Given the description of an element on the screen output the (x, y) to click on. 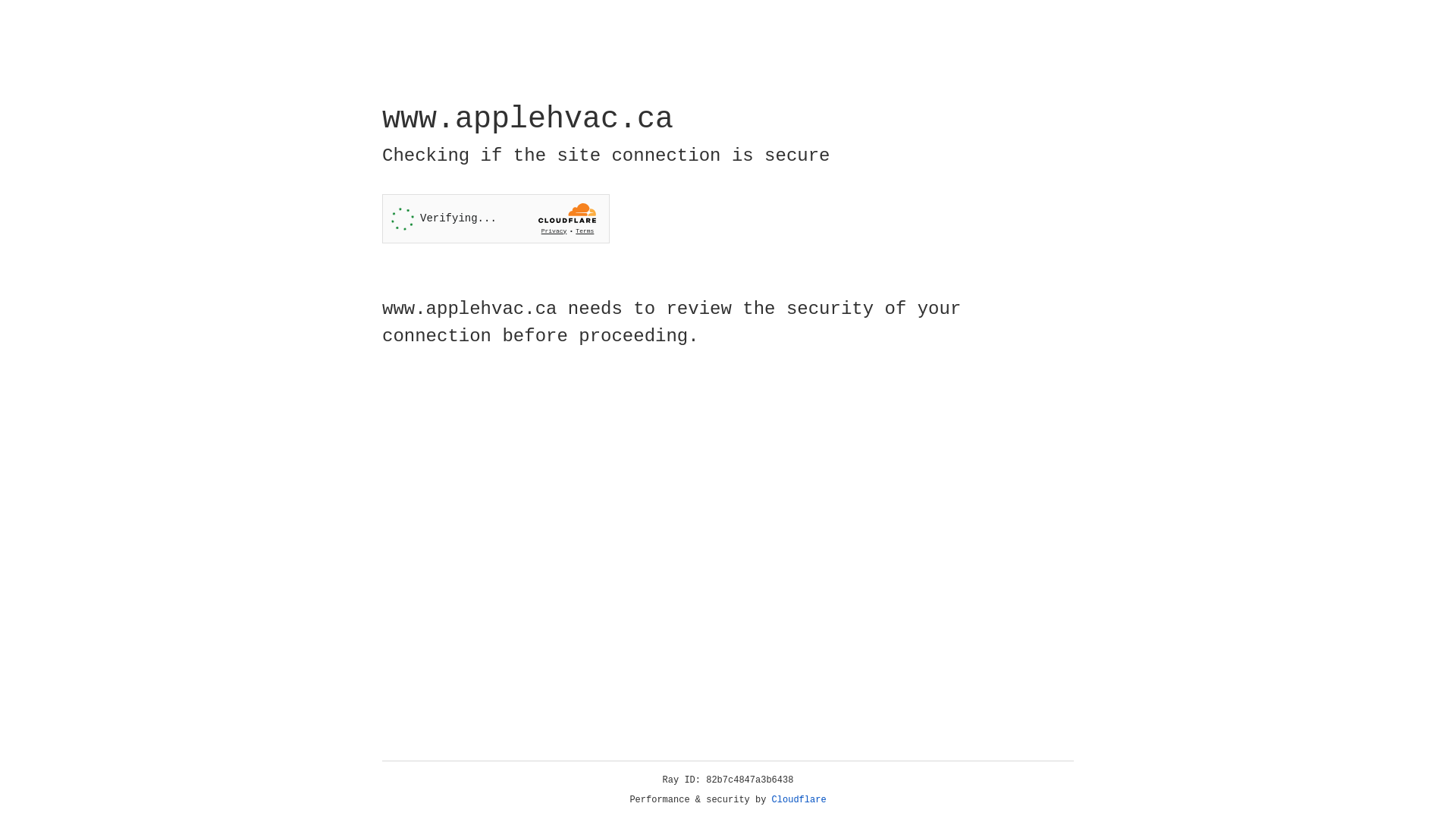
Cloudflare Element type: text (798, 799)
Widget containing a Cloudflare security challenge Element type: hover (495, 218)
